Given the description of an element on the screen output the (x, y) to click on. 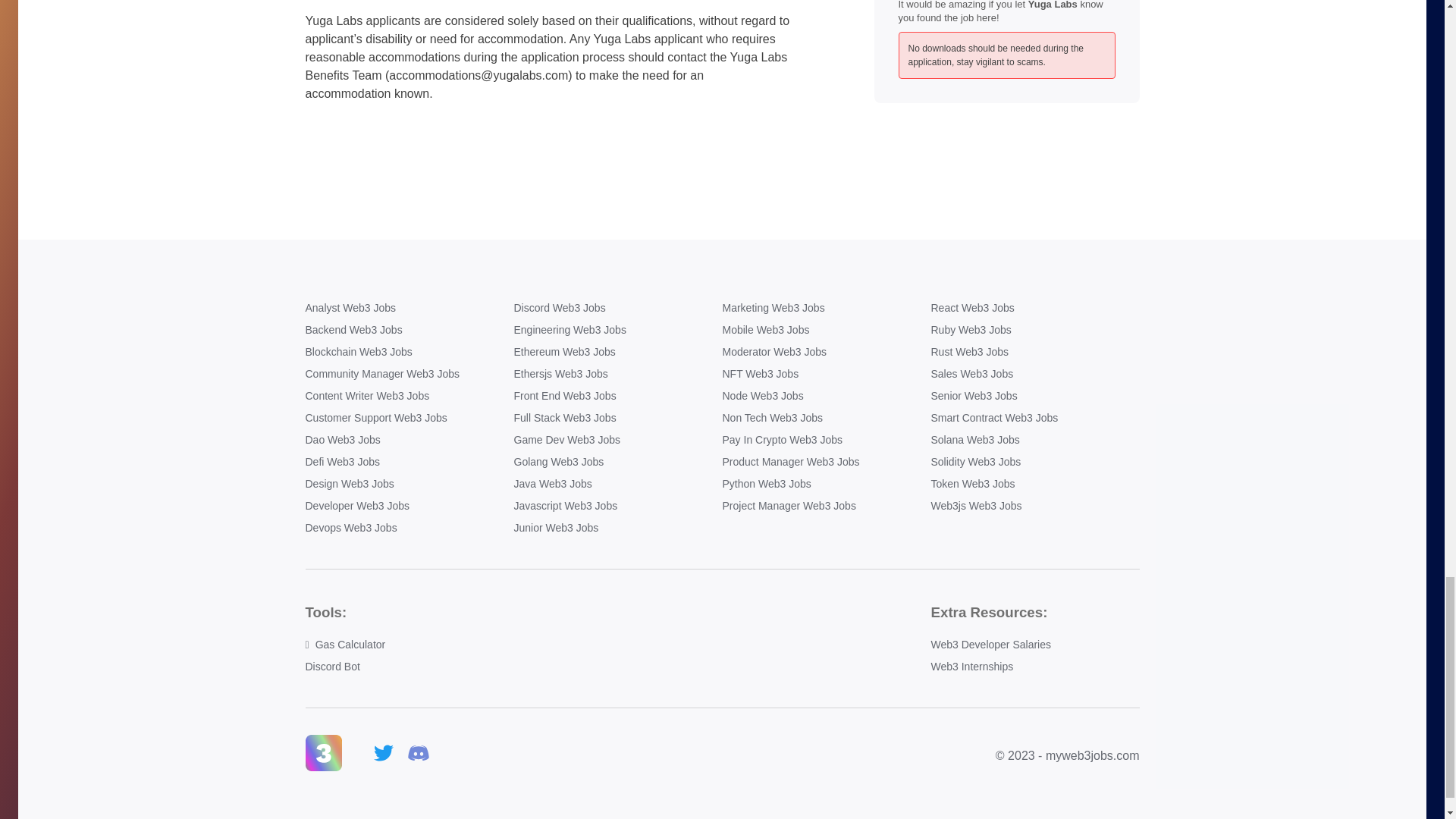
Developer Web3 Jobs (408, 505)
Java Web3 Jobs (617, 483)
Analyst Web3 Jobs (408, 308)
Javascript Web3 Jobs (617, 505)
Content Writer Web3 Jobs (408, 396)
Discord Web3 Jobs (617, 308)
Blockchain Web3 Jobs (408, 351)
Marketing Web3 Jobs (826, 308)
Defi Web3 Jobs (408, 462)
Game Dev Web3 Jobs (617, 439)
Full Stack Web3 Jobs (617, 417)
Customer Support Web3 Jobs (408, 417)
Ethereum Web3 Jobs (617, 351)
Backend Web3 Jobs (408, 330)
Moderator Web3 Jobs (826, 351)
